Given the description of an element on the screen output the (x, y) to click on. 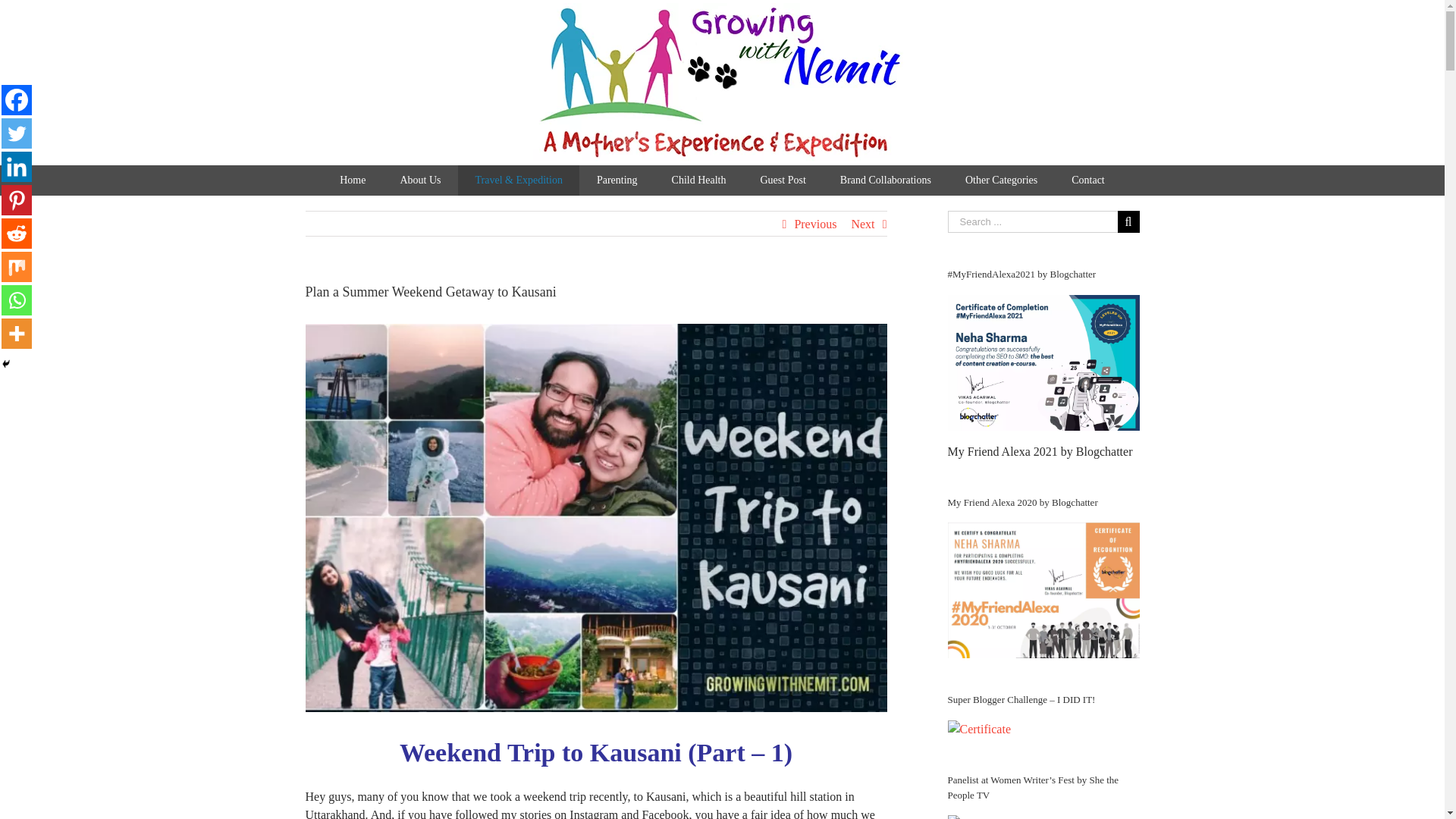
Parenting (616, 180)
Child Health (697, 180)
Linkedin (16, 166)
Other Categories (1000, 180)
Brand Collaborations (884, 180)
Facebook (16, 100)
Pinterest (16, 200)
Guest Post (782, 180)
Mix (16, 266)
About Us (420, 180)
Home (352, 180)
Contact (1088, 180)
Whatsapp (16, 300)
More (16, 333)
Reddit (16, 233)
